Given the description of an element on the screen output the (x, y) to click on. 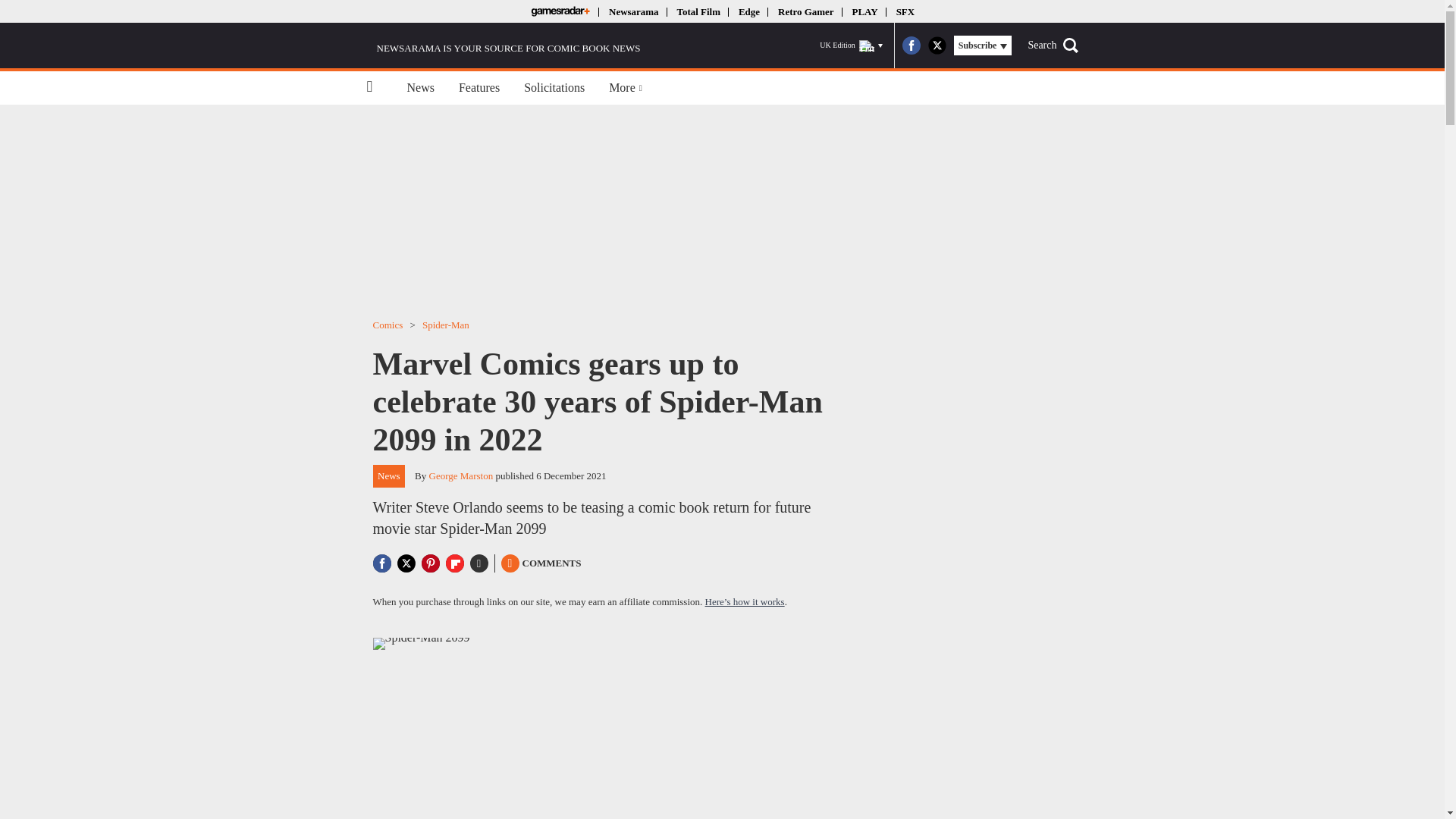
George Marston (461, 475)
Comics (387, 324)
UK Edition (850, 45)
SFX (905, 11)
Spider-Man (445, 324)
Features (479, 87)
Solicitations (554, 87)
News (419, 87)
Newsarama (633, 11)
NEWSARAMA IS YOUR SOURCE FOR COMIC BOOK NEWS (503, 44)
